Given the description of an element on the screen output the (x, y) to click on. 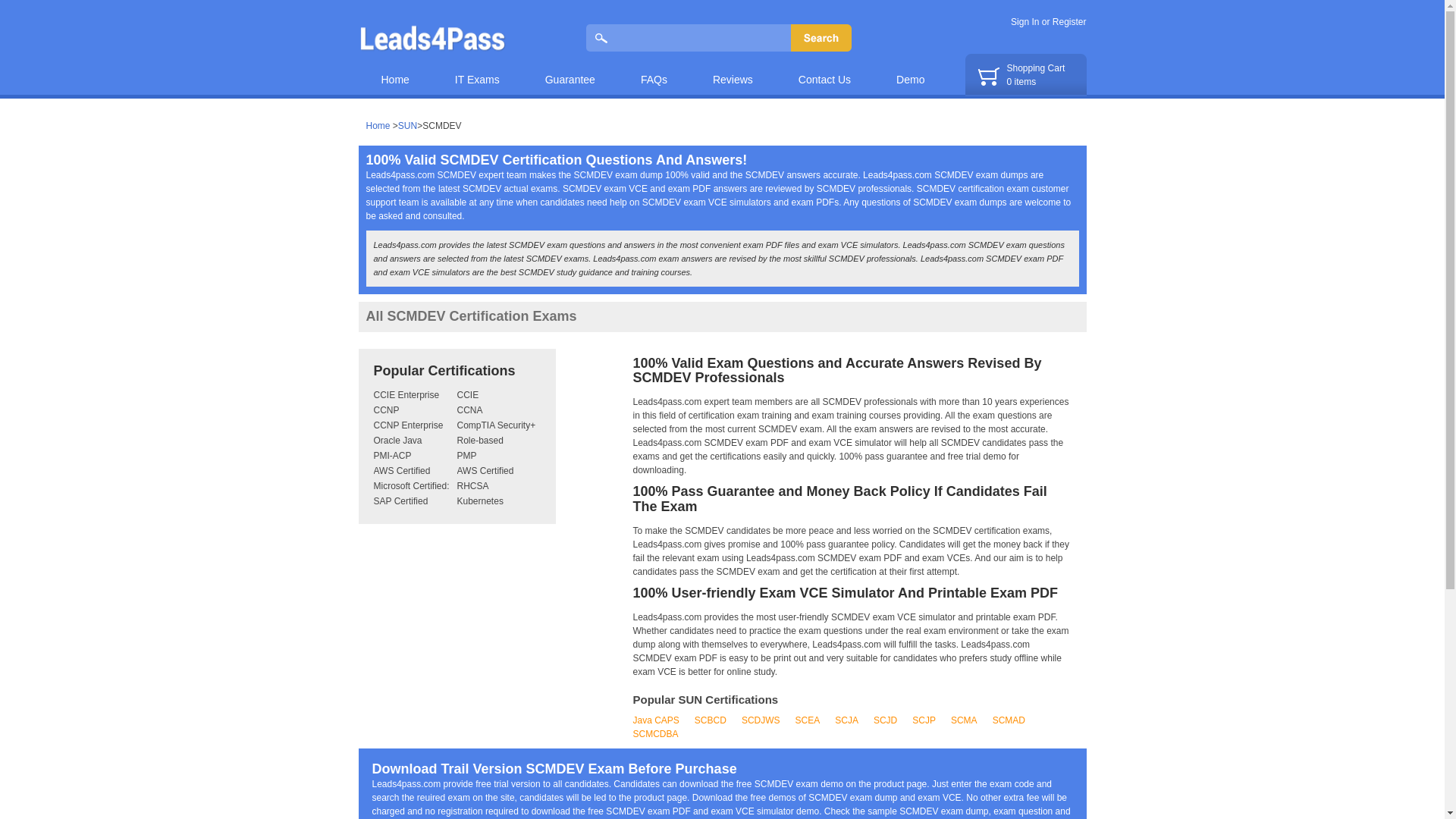
CCNP Enterprise (407, 425)
SCMAD (1008, 719)
Guarantee (569, 72)
It Exams (477, 72)
CCIE (468, 394)
PMI-ACP (391, 455)
SCJA (846, 719)
CCNA (469, 409)
SCJD (884, 719)
SCMA (963, 719)
CCIE Enterprise Infrastructure (405, 402)
Oracle Java (397, 439)
Contact Us (824, 72)
Demo (1024, 75)
